Given the description of an element on the screen output the (x, y) to click on. 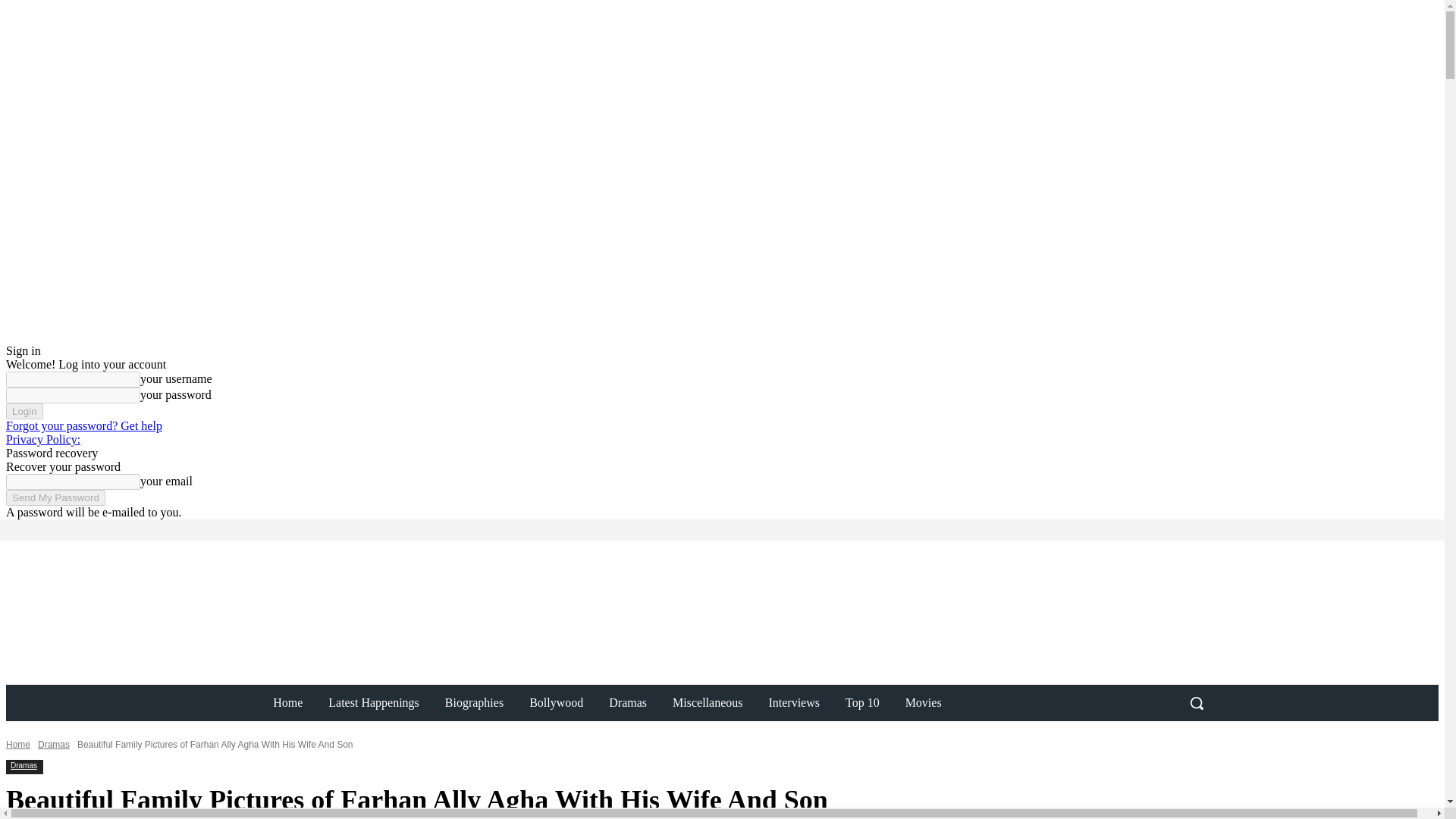
Facebook (193, 529)
Youtube (255, 529)
Movies (923, 702)
Pinterest (235, 529)
Interviews (793, 702)
View all posts in Dramas (53, 744)
Dramas (53, 744)
Dramas (23, 766)
Miscellaneous (707, 702)
Instagram (213, 529)
Biographies (474, 702)
Bollywood (555, 702)
Top 10 (862, 702)
Latest Happenings (373, 702)
Dramas (627, 702)
